Given the description of an element on the screen output the (x, y) to click on. 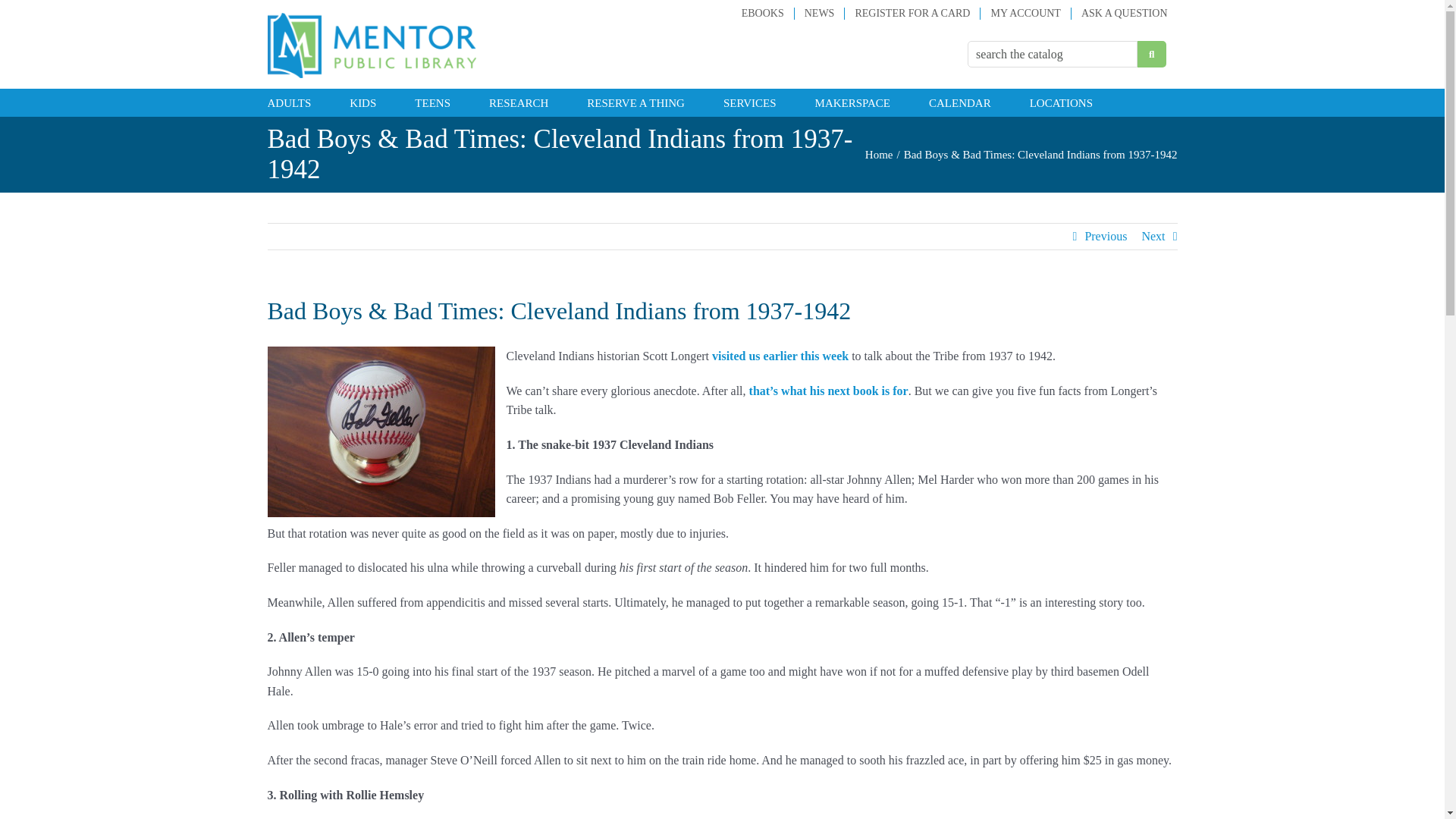
EBOOKS (762, 13)
NEWS (819, 13)
MY ACCOUNT (1024, 13)
RESERVE A THING (635, 102)
TEENS (431, 102)
Search For: (1052, 53)
ADULTS (288, 102)
search the catalog (1052, 53)
SERVICES (749, 102)
KIDS (362, 102)
